Given the description of an element on the screen output the (x, y) to click on. 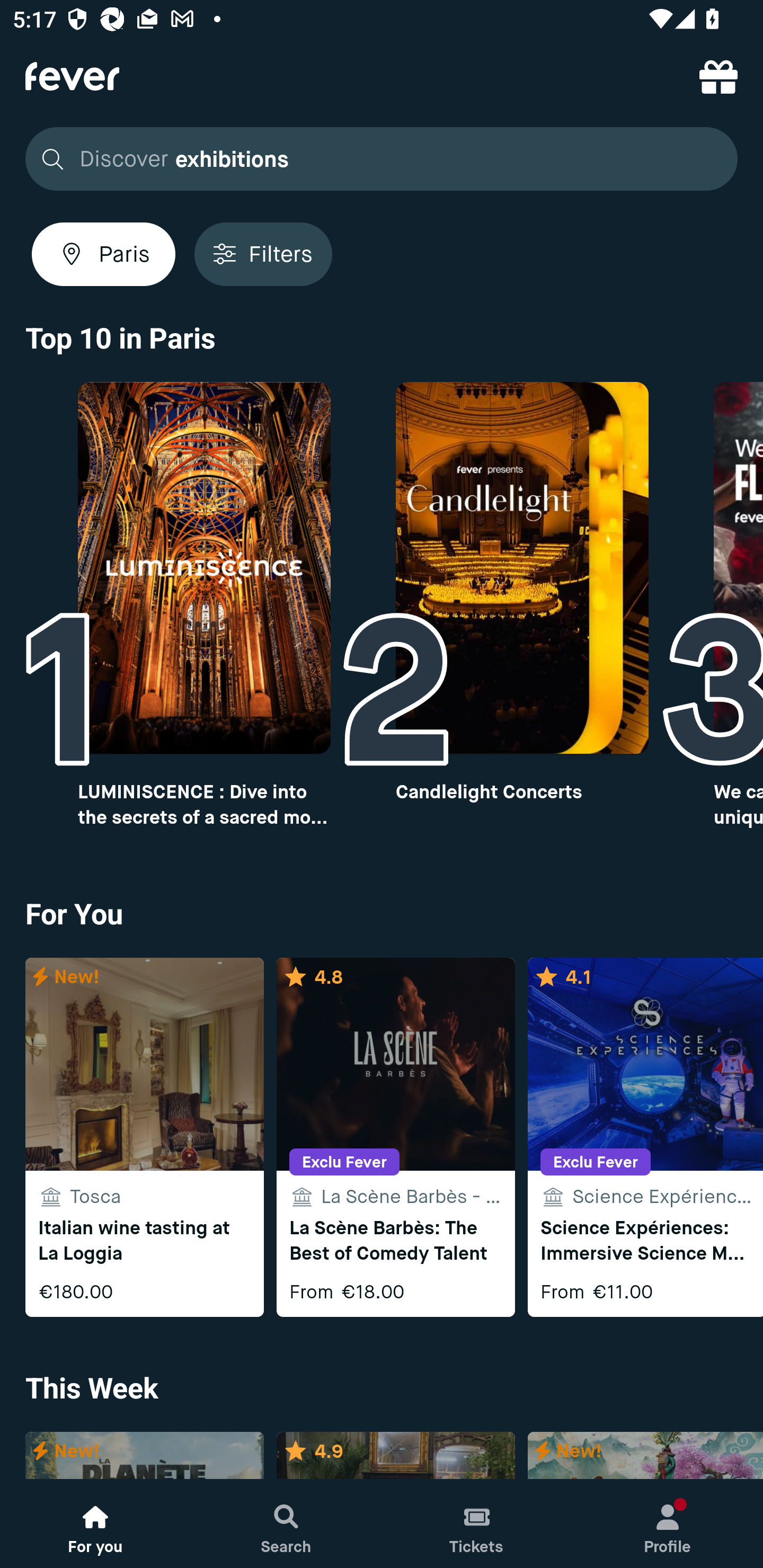
referral (718, 75)
Discover exhibitions (381, 158)
Discover exhibitions (376, 158)
Paris (103, 253)
Filters (262, 253)
Top10 image (203, 568)
Top10 image (521, 568)
Search (285, 1523)
Tickets (476, 1523)
Profile, New notification Profile (667, 1523)
